Given the description of an element on the screen output the (x, y) to click on. 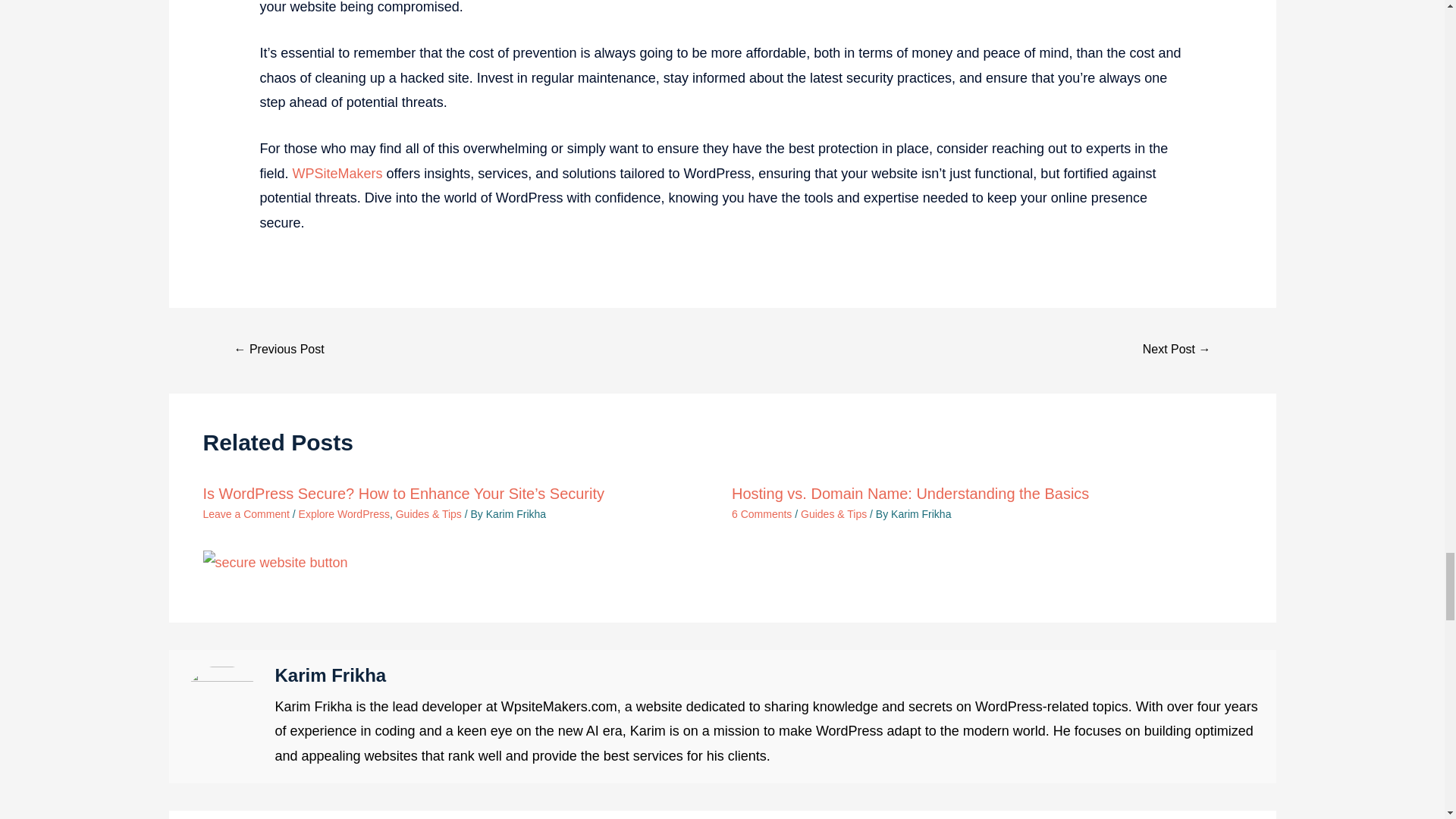
View all posts by Karim Frikha (516, 513)
How to build an ecommerce store with WordPress (278, 350)
Hosting vs. Domain Name: Understanding the Basics (910, 493)
Do i really need a website ? (1176, 350)
WPSiteMakers (337, 173)
6 Comments (762, 513)
View all posts by Karim Frikha (920, 513)
Explore WordPress (344, 513)
Karim Frikha (516, 513)
Leave a Comment (246, 513)
